Given the description of an element on the screen output the (x, y) to click on. 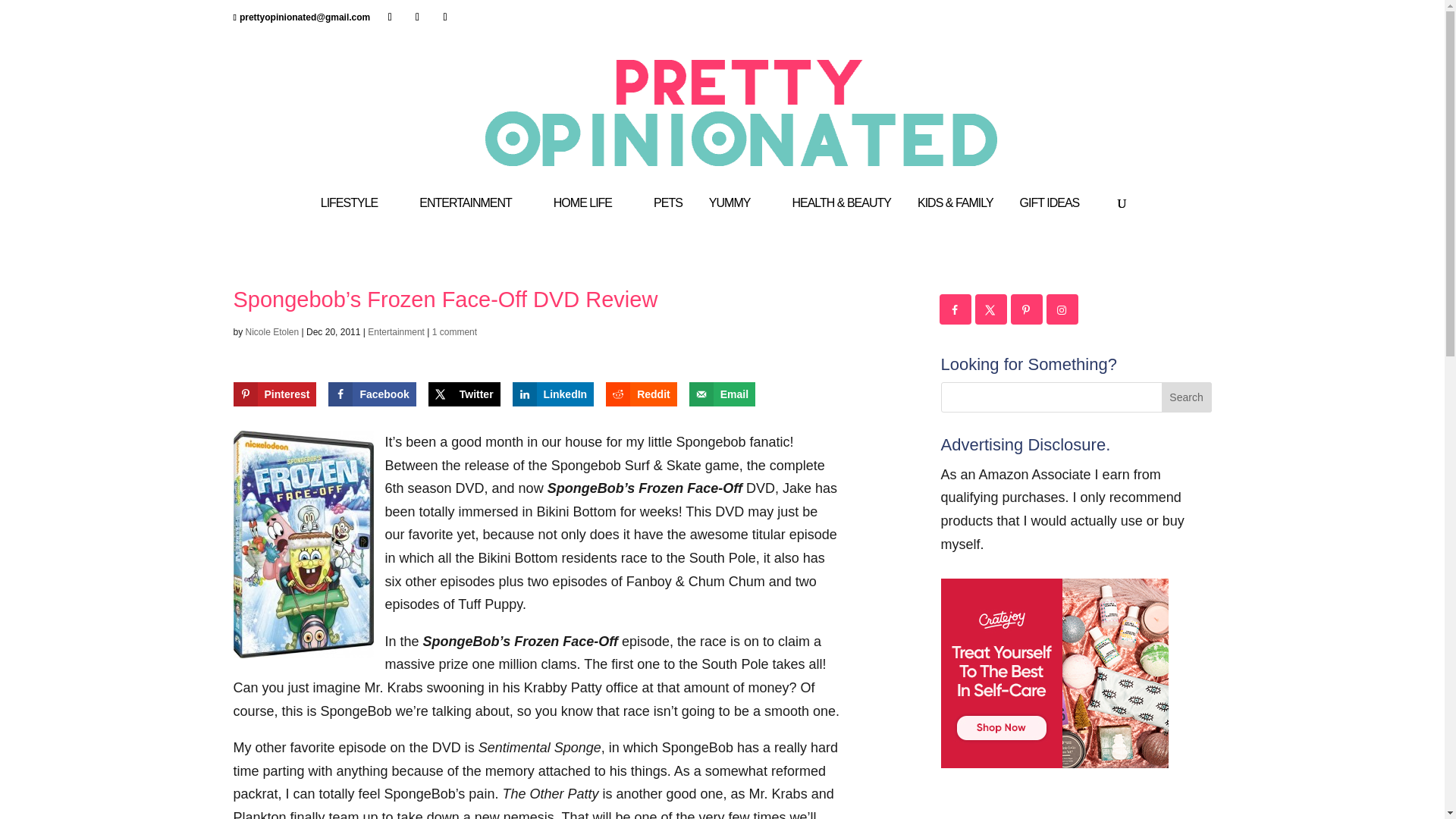
LIFESTYLE (356, 217)
YUMMY (737, 217)
Share on LinkedIn (553, 394)
ENTERTAINMENT (473, 217)
Share on Reddit (641, 394)
Posts by Nicole Etolen (272, 331)
GIFT IDEAS (1057, 217)
Share on Facebook (371, 394)
Send over email (721, 394)
Share on X (464, 394)
